Given the description of an element on the screen output the (x, y) to click on. 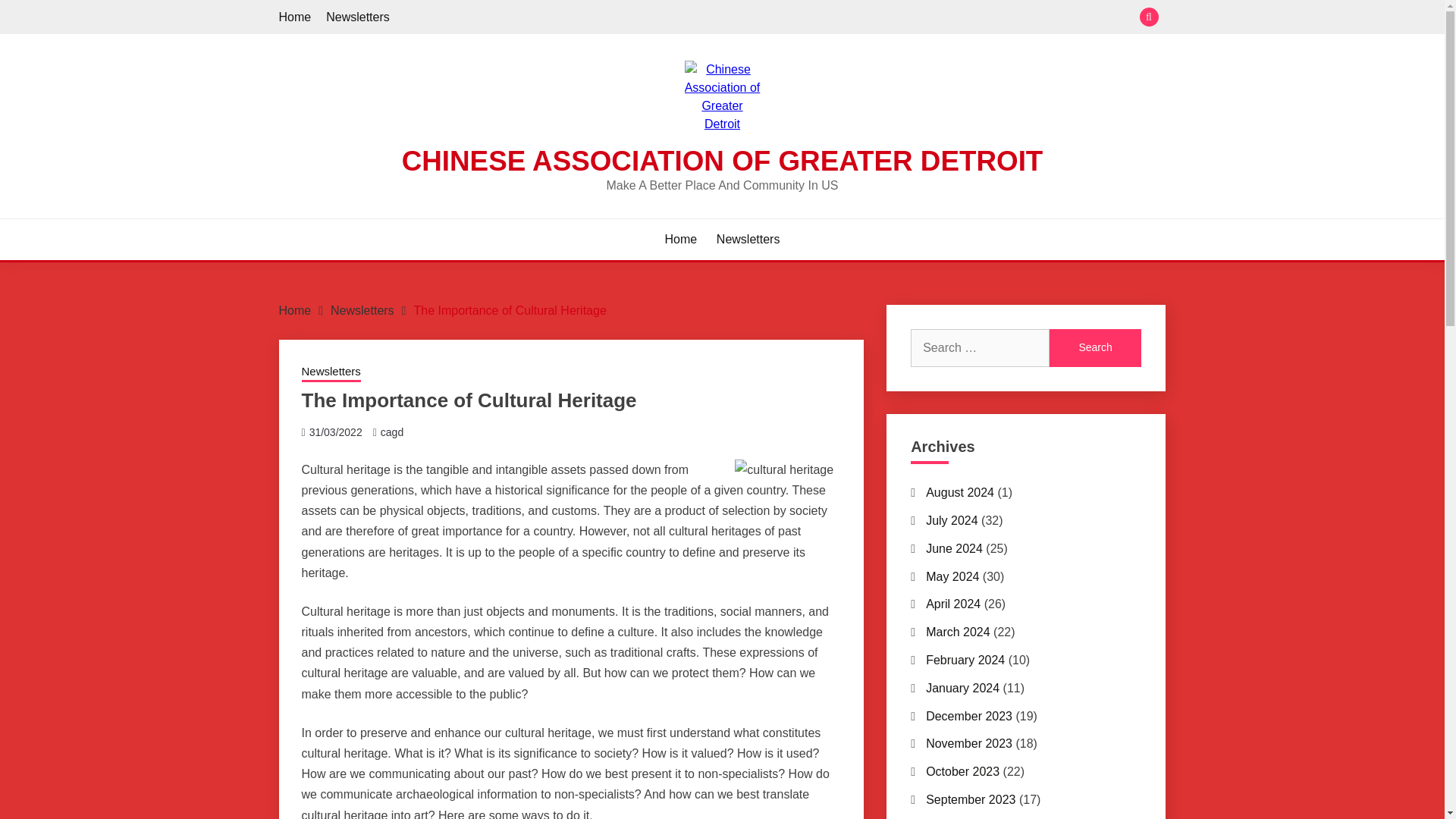
August 2024 (960, 492)
Newsletters (358, 16)
February 2024 (965, 659)
July 2024 (952, 520)
June 2024 (954, 548)
November 2023 (968, 743)
April 2024 (952, 603)
Search (1095, 347)
Newsletters (362, 309)
The Importance of Cultural Heritage (509, 309)
